Given the description of an element on the screen output the (x, y) to click on. 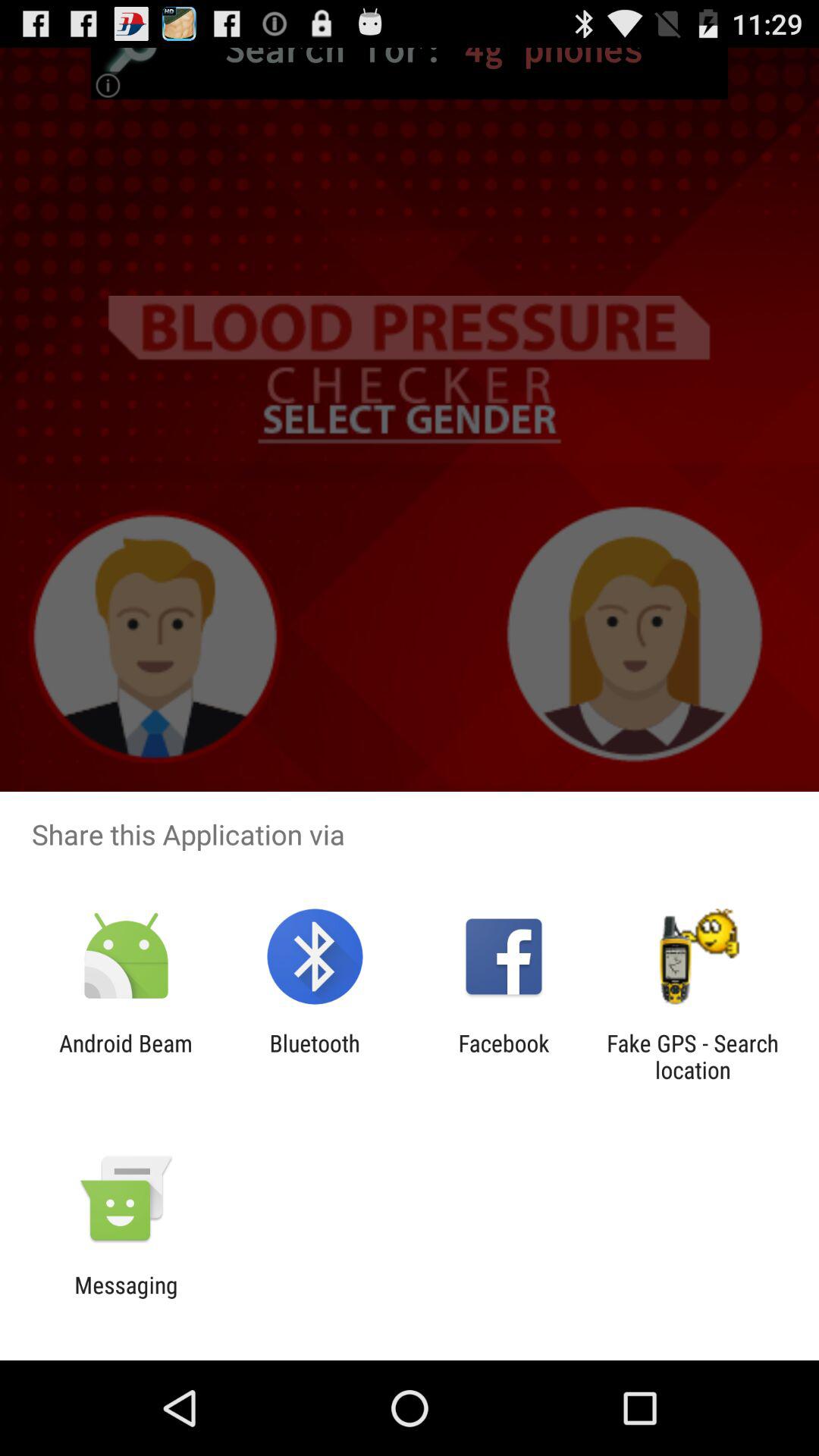
turn on the fake gps search icon (692, 1056)
